Given the description of an element on the screen output the (x, y) to click on. 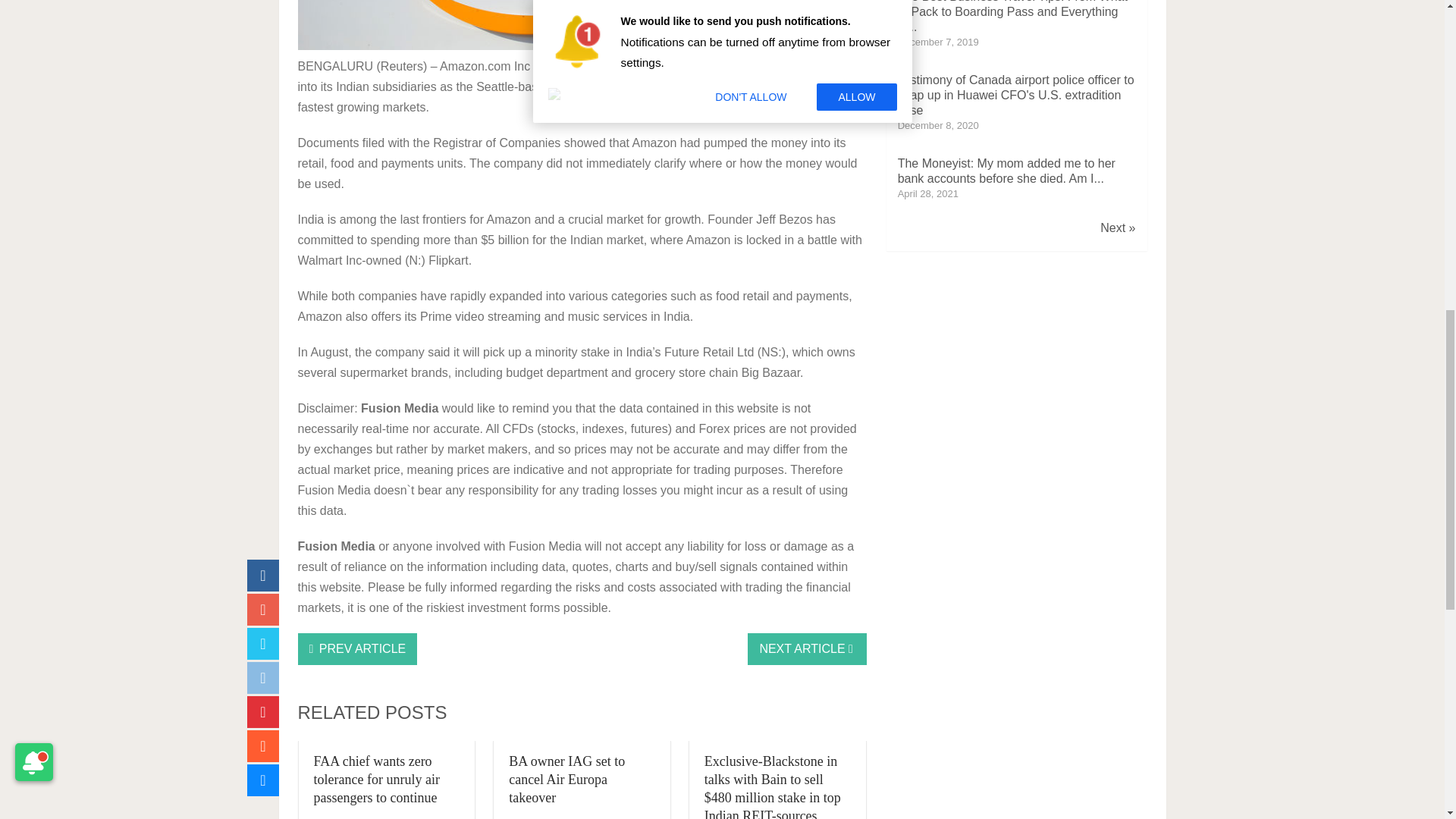
PREV ARTICLE (356, 649)
NEXT ARTICLE (807, 649)
BA owner IAG set to cancel Air Europa takeover (566, 779)
BA owner IAG set to cancel Air Europa takeover (566, 779)
